Given the description of an element on the screen output the (x, y) to click on. 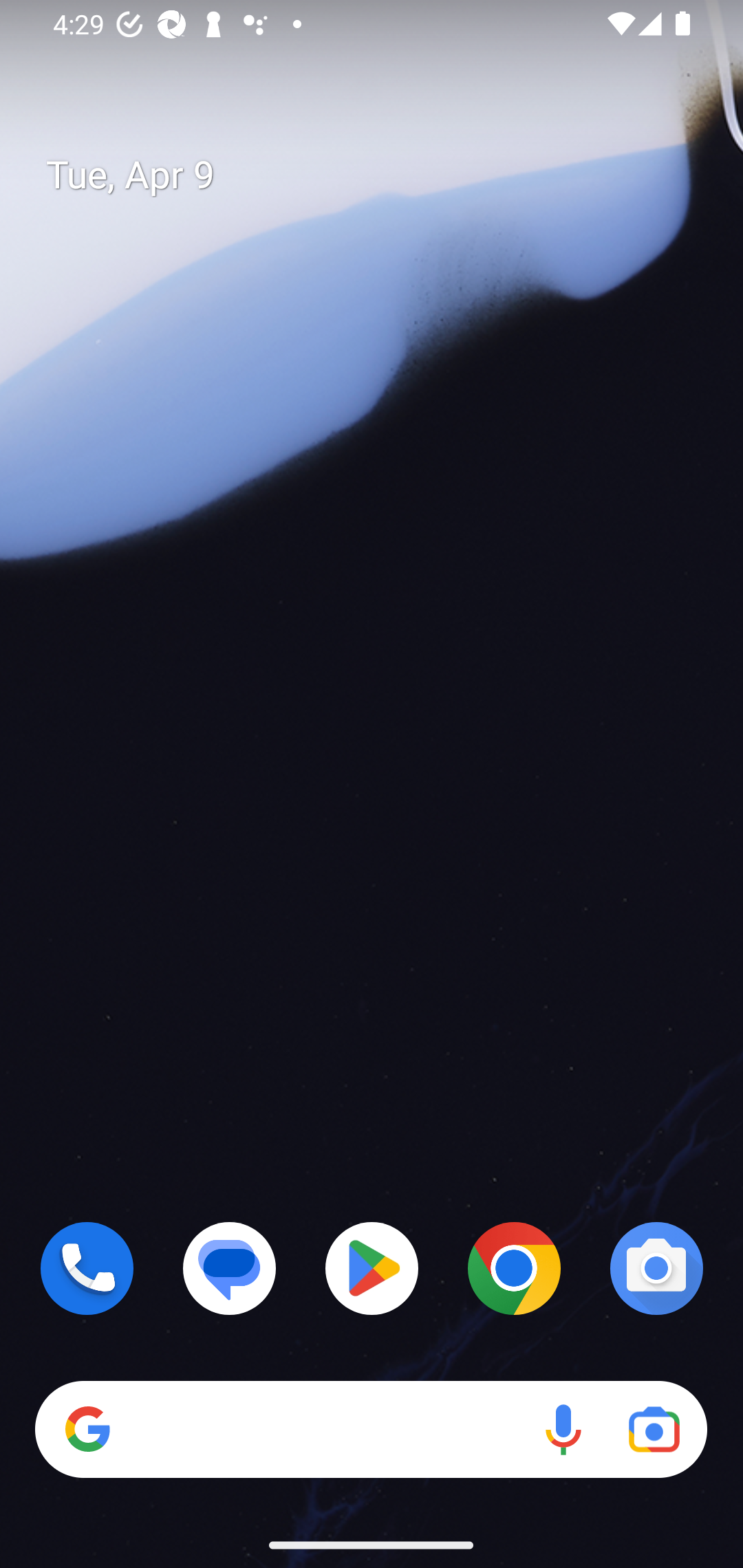
Tue, Apr 9 (386, 175)
Phone (86, 1268)
Messages (229, 1268)
Play Store (371, 1268)
Chrome (513, 1268)
Camera (656, 1268)
Voice search (562, 1429)
Google Lens (653, 1429)
